Given the description of an element on the screen output the (x, y) to click on. 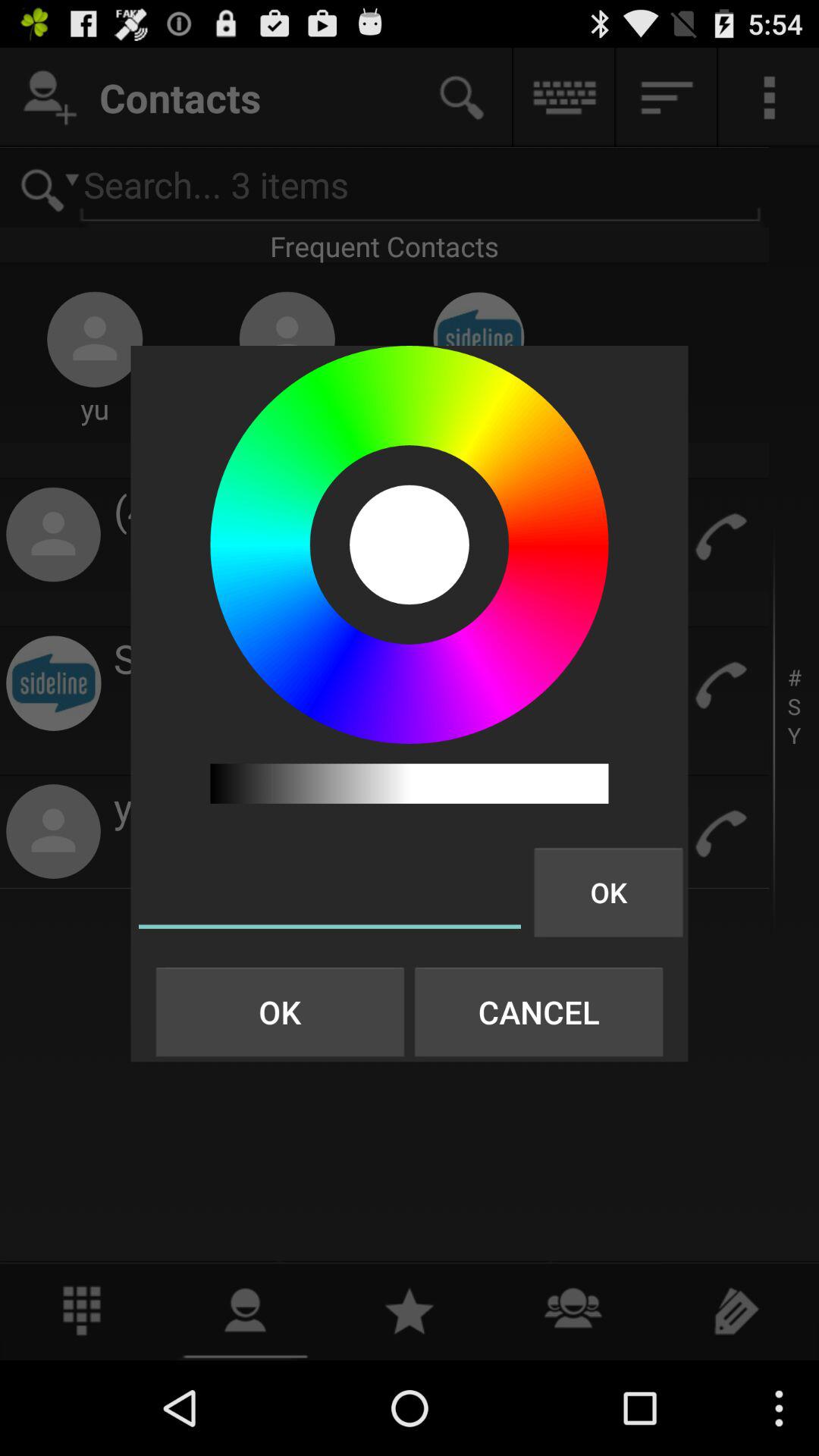
launch the cancel item (538, 1011)
